Given the description of an element on the screen output the (x, y) to click on. 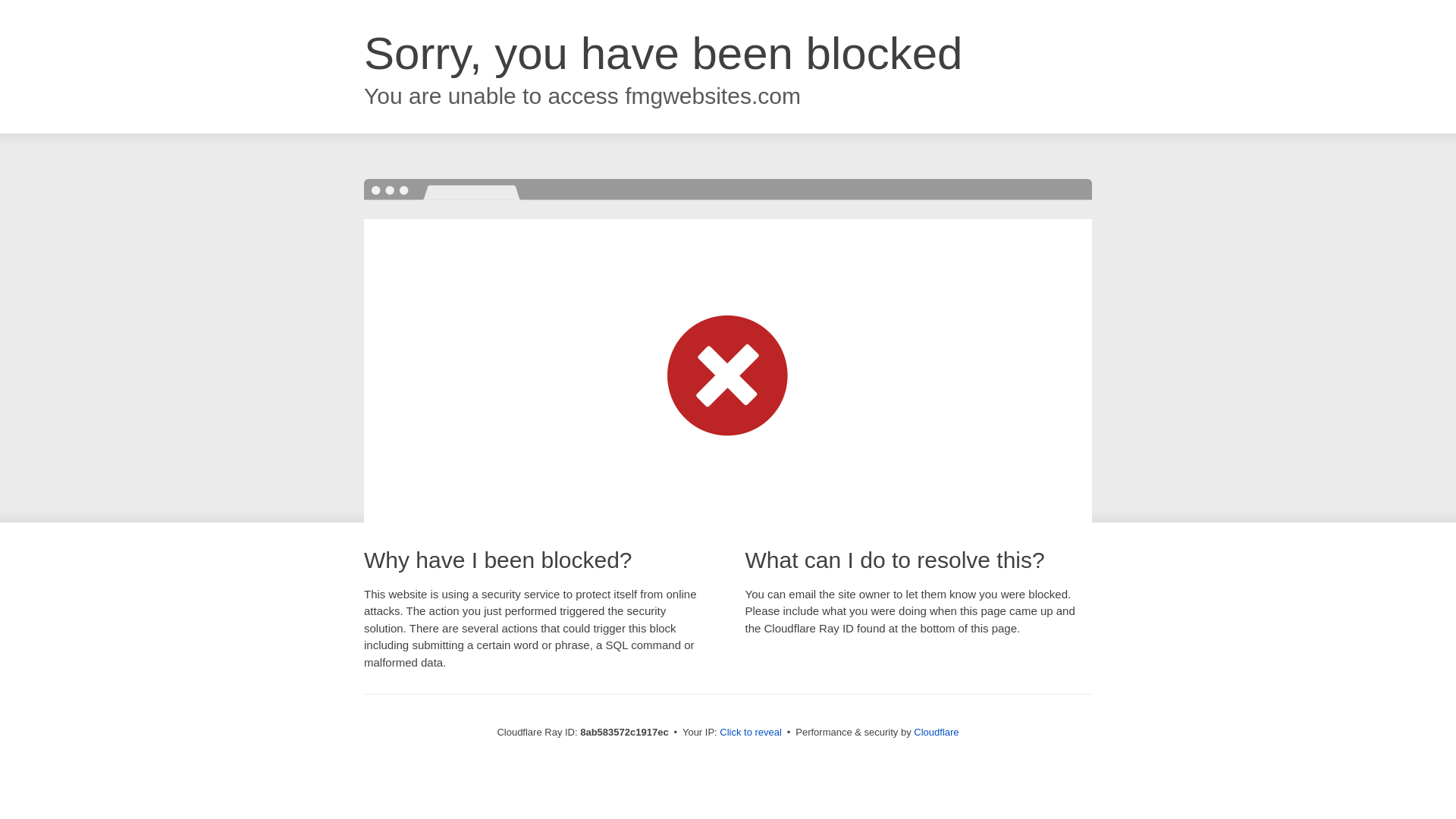
Click to reveal (750, 732)
Cloudflare (936, 731)
